Given the description of an element on the screen output the (x, y) to click on. 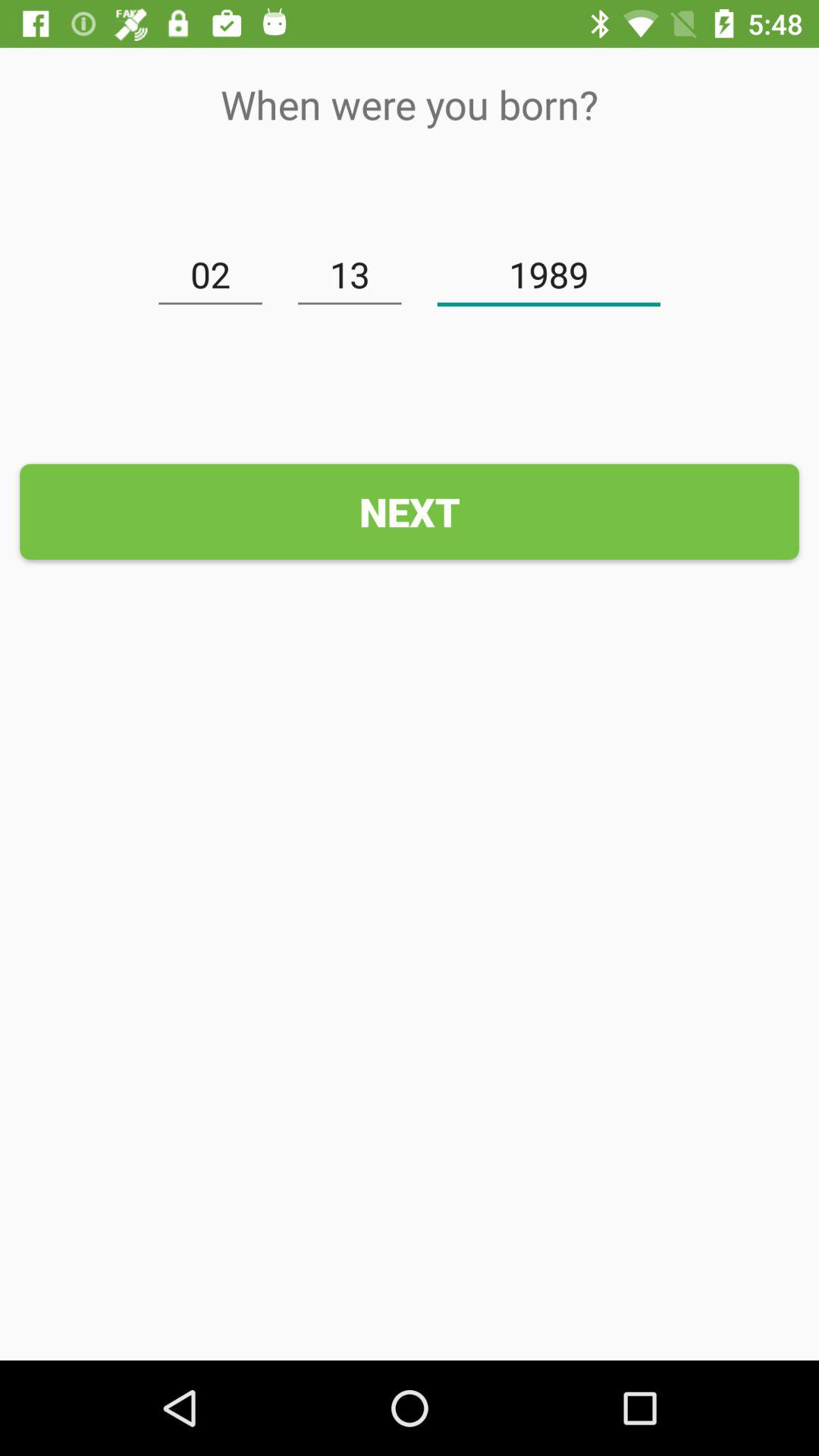
launch 02 item (210, 275)
